Given the description of an element on the screen output the (x, y) to click on. 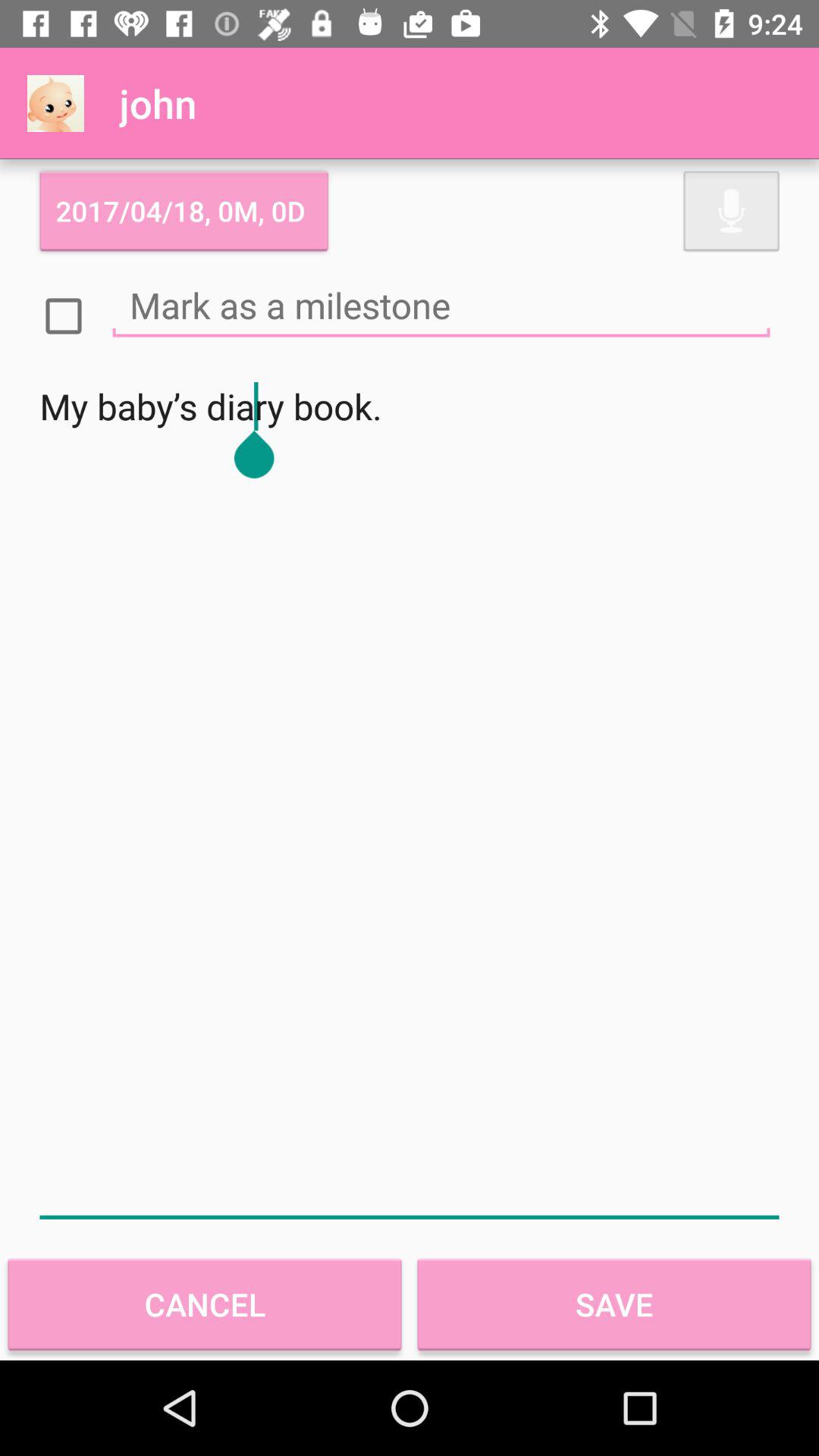
click app next to the john item (55, 103)
